Given the description of an element on the screen output the (x, y) to click on. 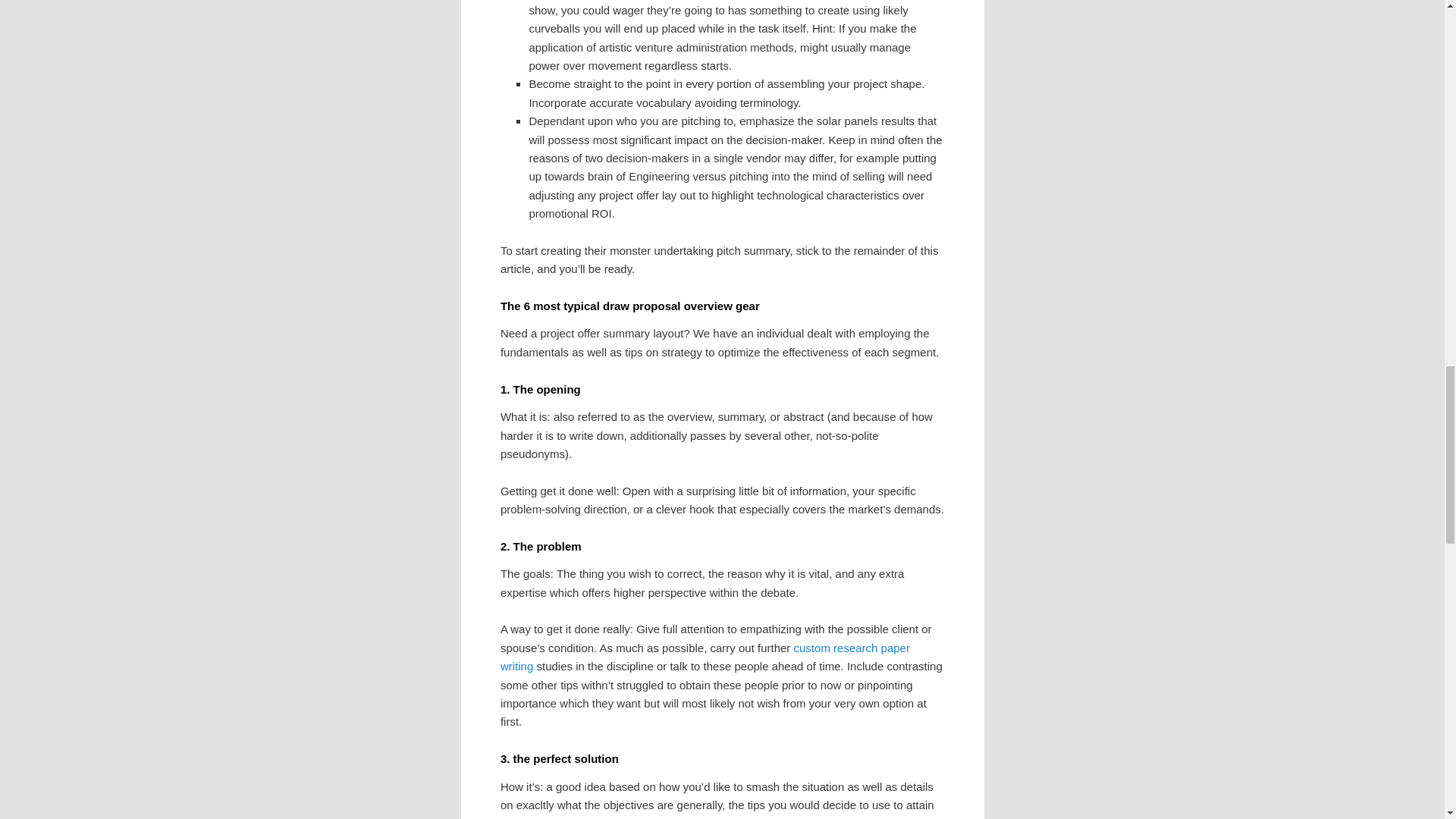
custom research paper writing (705, 656)
